Given the description of an element on the screen output the (x, y) to click on. 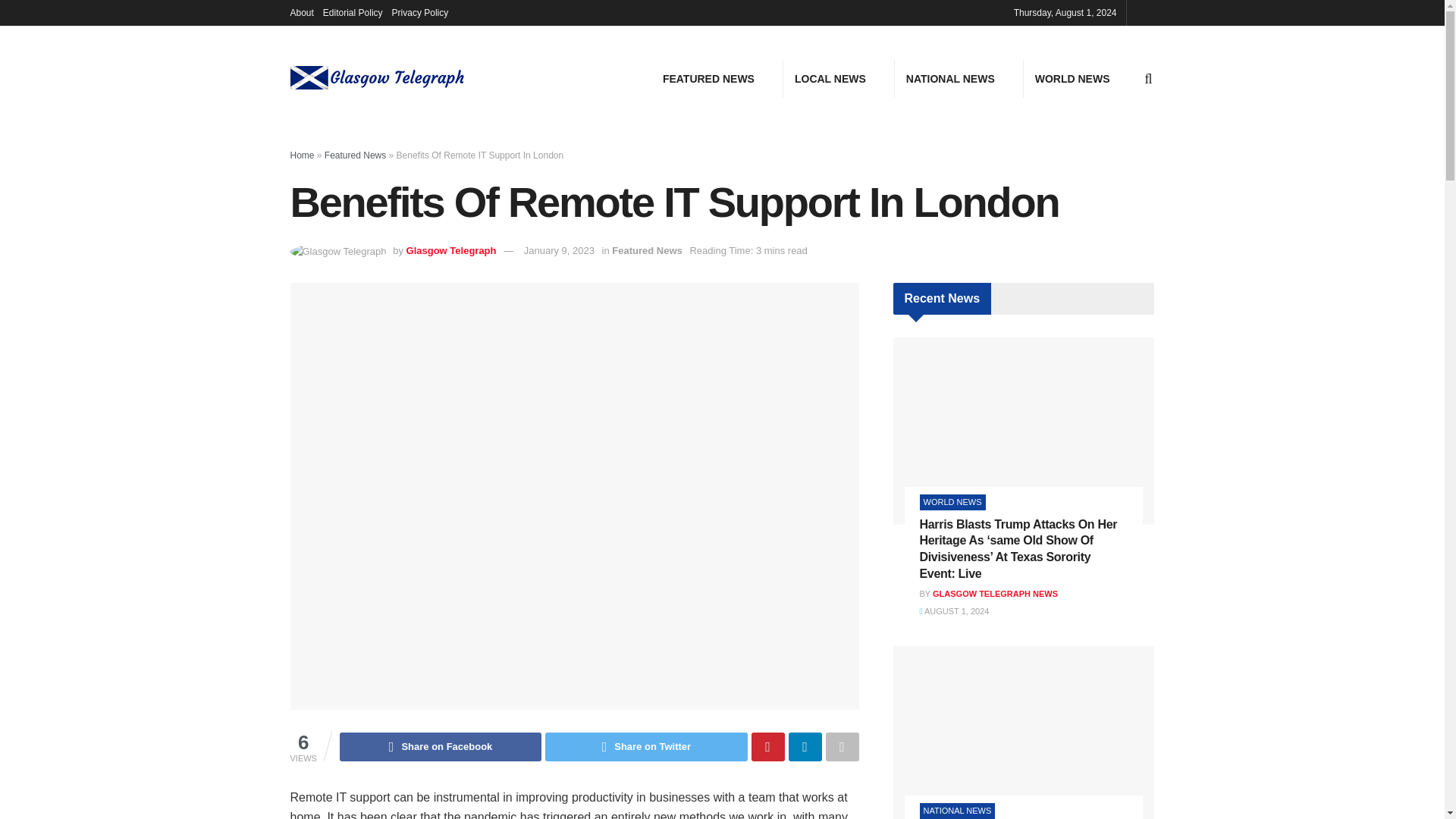
Glasgow Telegraph (451, 250)
NATIONAL NEWS (950, 78)
LOCAL NEWS (830, 78)
Privacy Policy (419, 12)
Home (301, 154)
About (301, 12)
Share on Facebook (440, 746)
January 9, 2023 (559, 250)
Featured News (354, 154)
WORLD NEWS (1072, 78)
Editorial Policy (352, 12)
FEATURED NEWS (708, 78)
Featured News (646, 250)
Share on Twitter (645, 746)
